Given the description of an element on the screen output the (x, y) to click on. 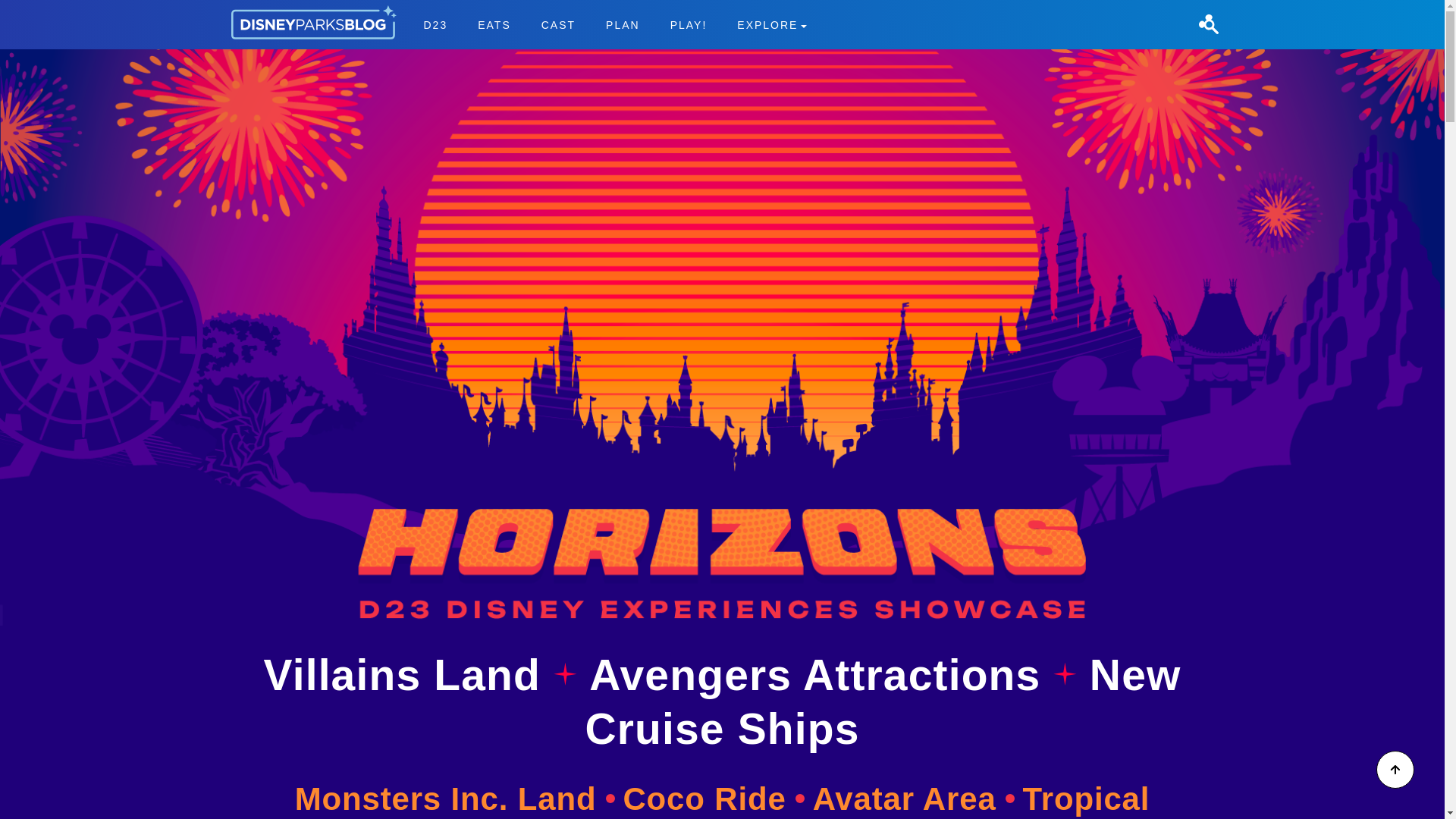
Monsters Inc. Land (454, 798)
Skip to content (40, 8)
New Cruise Ships (882, 701)
Avengers Attractions (820, 674)
Coco Ride (614, 23)
EXPLORE (714, 798)
PLAY! (771, 23)
EATS (688, 23)
Avatar Area (494, 23)
